Given the description of an element on the screen output the (x, y) to click on. 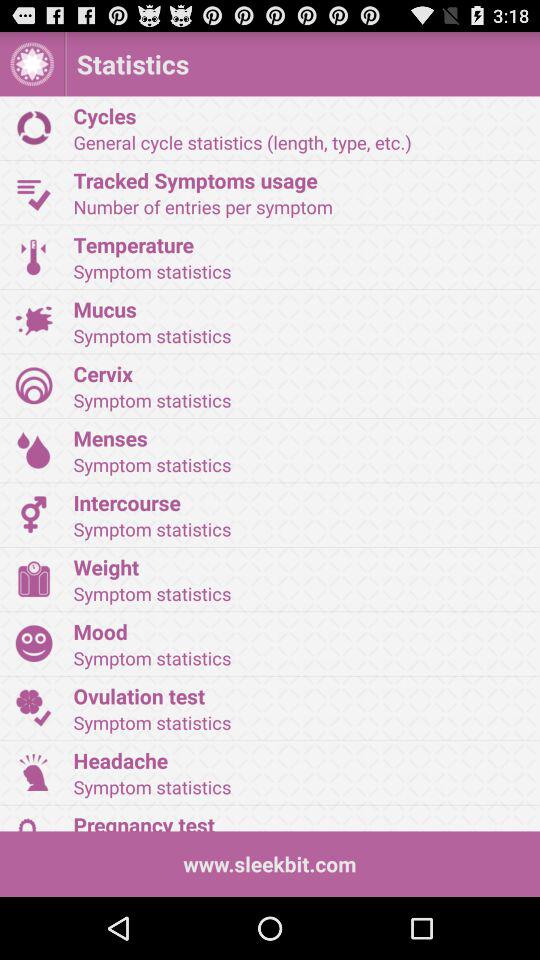
tap item above the symptom statistics icon (299, 695)
